Given the description of an element on the screen output the (x, y) to click on. 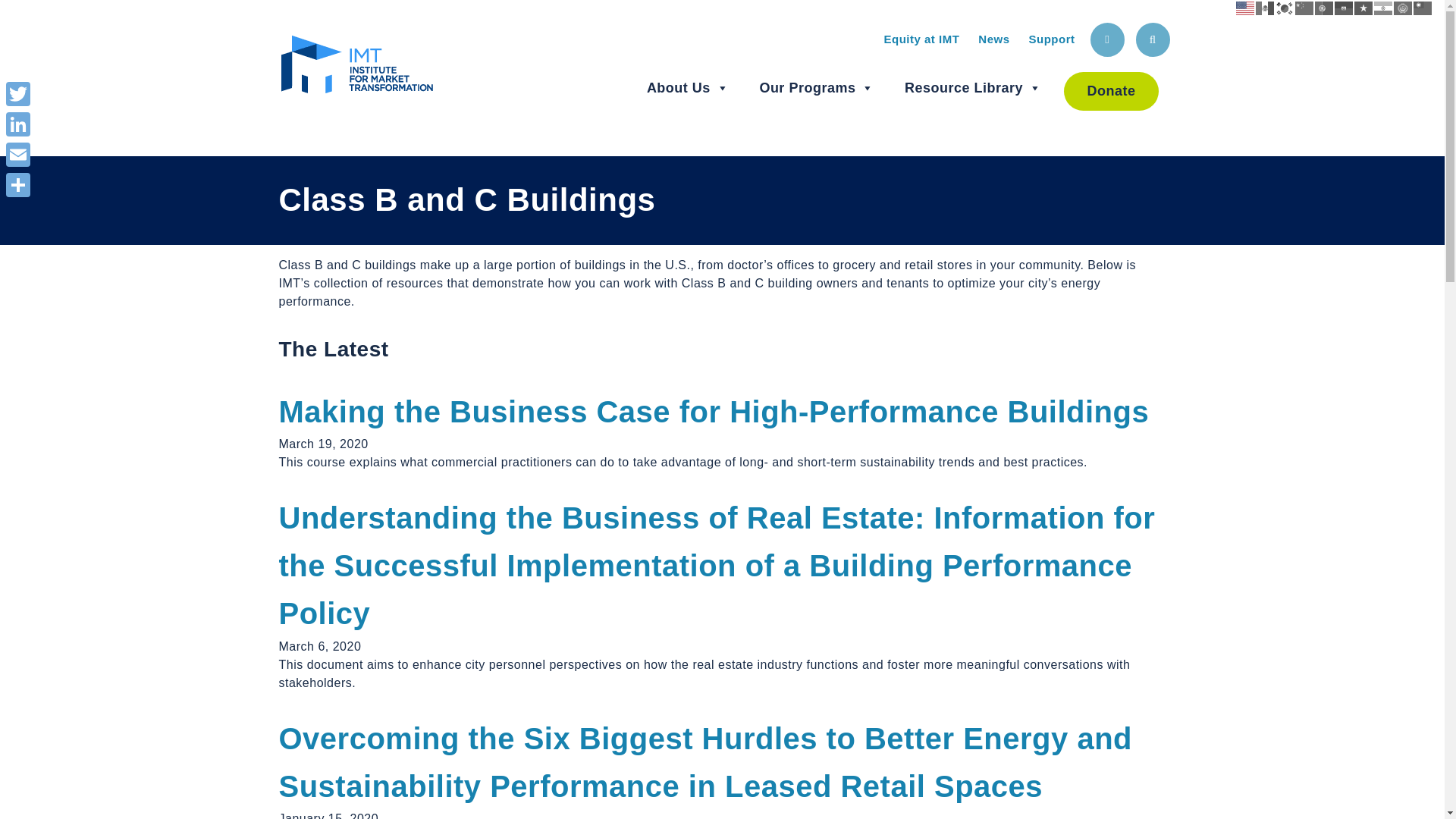
English (1245, 6)
Support (1051, 39)
Search (1152, 39)
Twitter (17, 93)
Equity at IMT (920, 39)
Kreyol ayisyen (1344, 6)
LinkedIn (17, 123)
Resource Library (972, 87)
Email (17, 154)
About Us (687, 87)
Our Programs (816, 87)
News (993, 39)
